Given the description of an element on the screen output the (x, y) to click on. 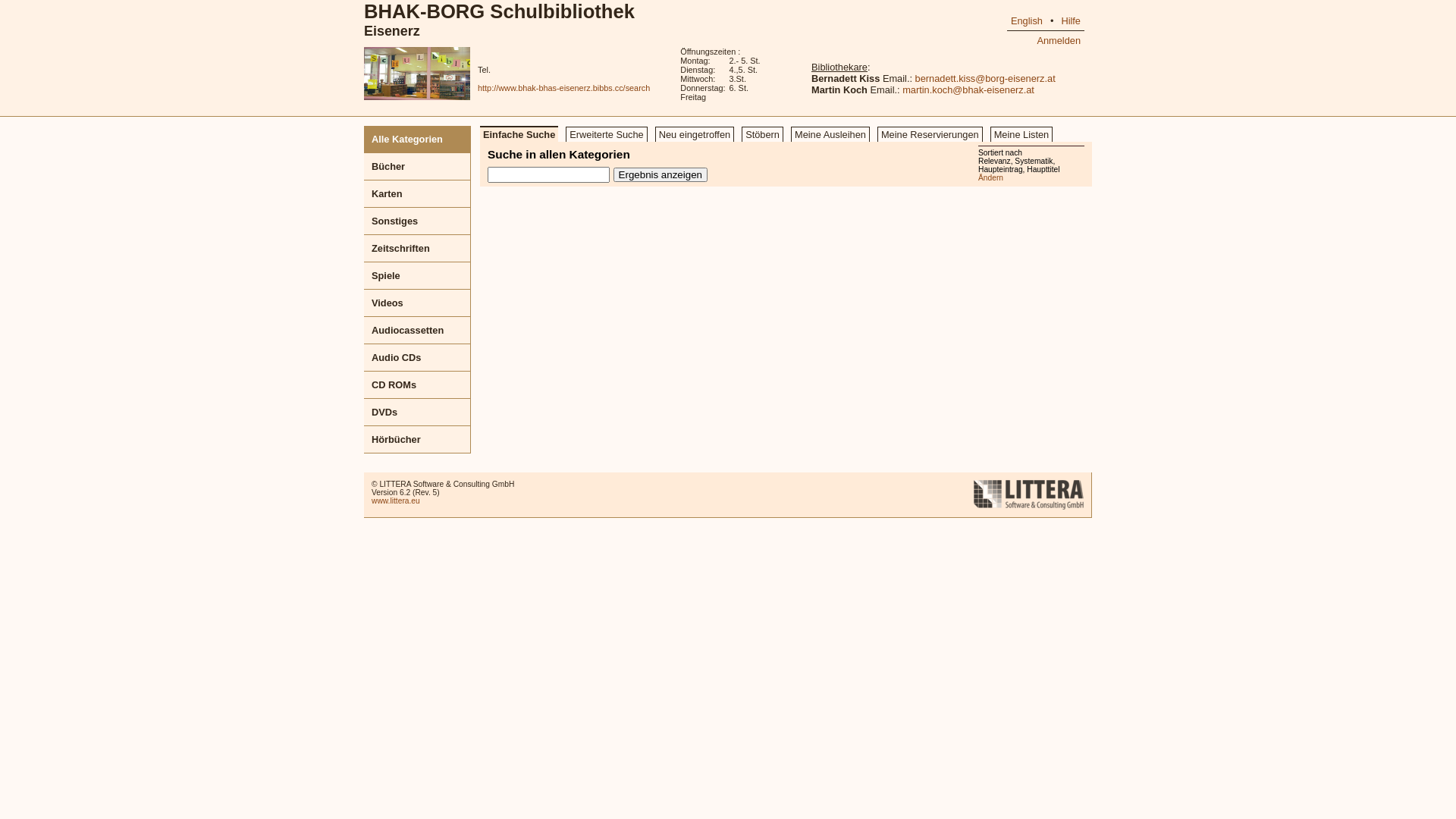
CD ROMs Element type: text (417, 384)
Audiocassetten Element type: text (417, 330)
Anmelden Element type: text (1058, 40)
Meine Ausleihen Element type: text (829, 133)
Ergebnis anzeigen Element type: text (660, 174)
Meine Reservierungen Element type: text (929, 133)
www.littera.eu Element type: text (395, 500)
Audio CDs Element type: text (417, 357)
bernadett.kiss@borg-eisenerz.at Element type: text (985, 78)
BHAK-BORG Schulbibliothek Element type: text (499, 10)
Erweiterte Suche Element type: text (605, 133)
Sonstiges Element type: text (417, 221)
Spiele Element type: text (417, 275)
Hilfe Element type: text (1070, 21)
martin.koch@bhak-eisenerz.at Element type: text (968, 89)
Neu eingetroffen Element type: text (694, 133)
Meine Listen Element type: text (1021, 133)
Einfache Suche Element type: text (519, 133)
Videos Element type: text (417, 302)
Alle Kategorien Element type: text (417, 139)
English Element type: text (1026, 21)
Zeitschriften Element type: text (417, 248)
Karten Element type: text (417, 193)
http://www.bhak-bhas-eisenerz.bibbs.cc/search Element type: text (563, 87)
DVDs Element type: text (417, 412)
